Given the description of an element on the screen output the (x, y) to click on. 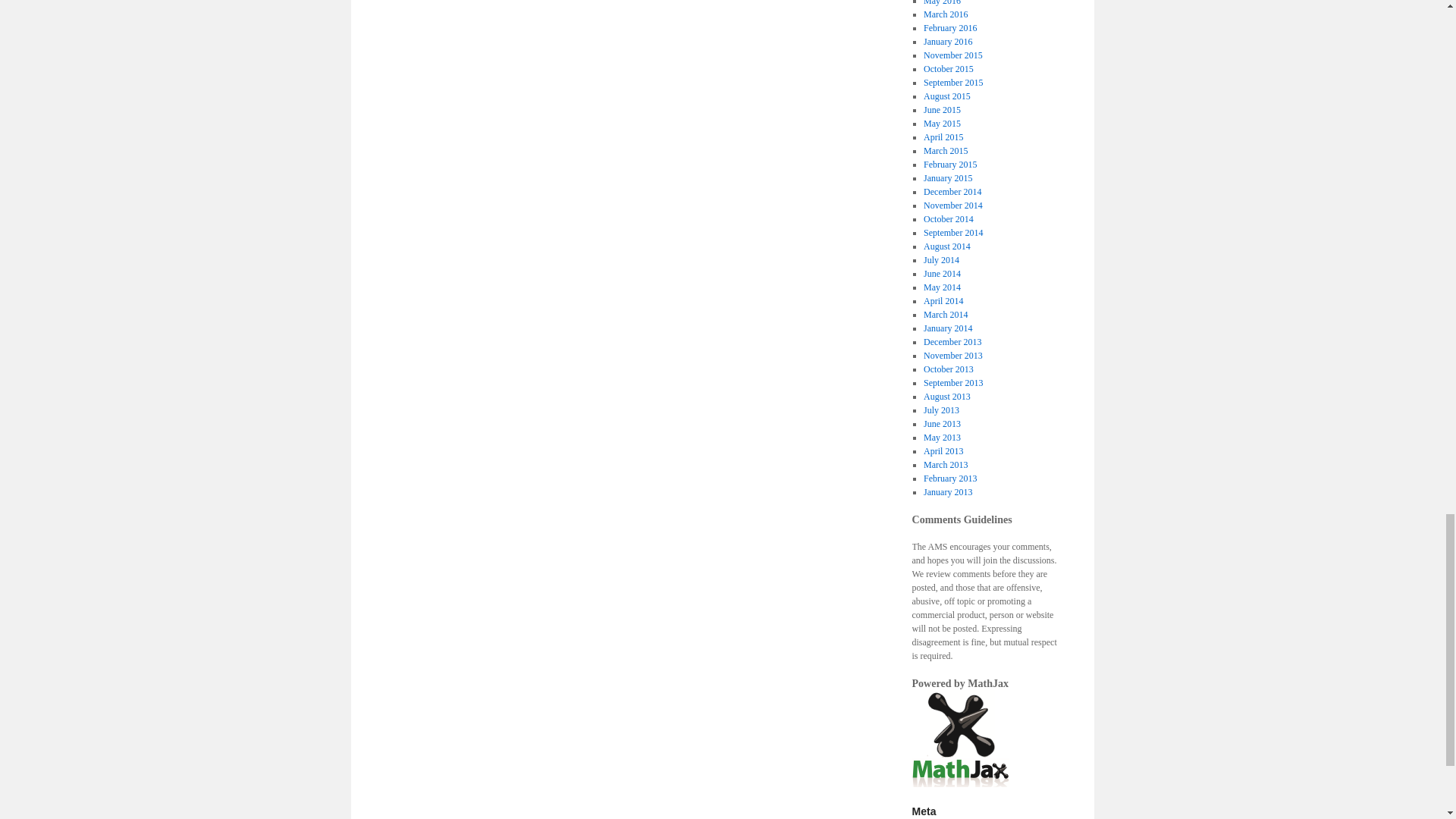
Powered by MathJax (960, 738)
